Given the description of an element on the screen output the (x, y) to click on. 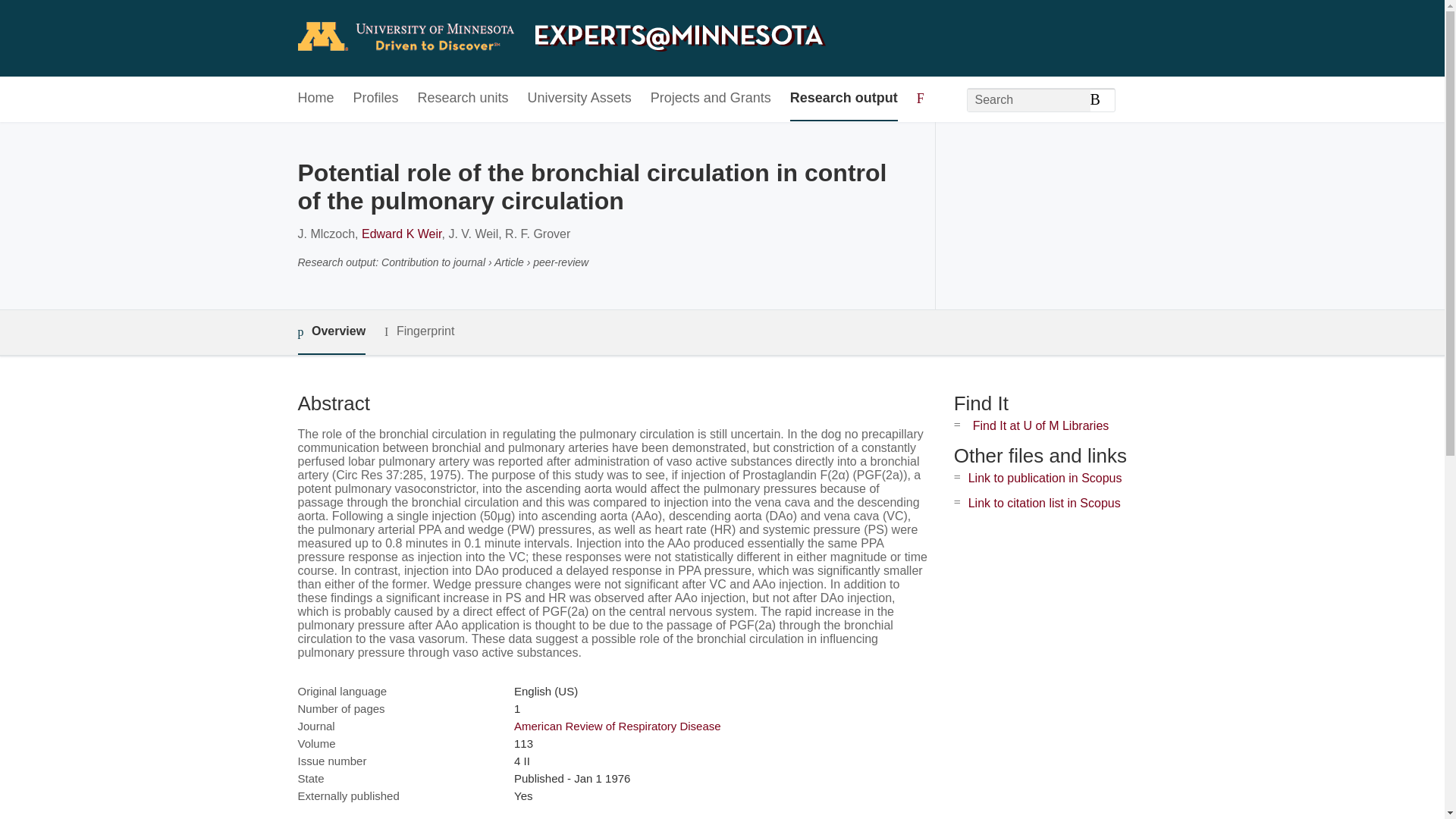
Research units (462, 98)
Projects and Grants (710, 98)
University Assets (579, 98)
Profiles (375, 98)
Find It at U of M Libraries (1040, 425)
Edward K Weir (401, 233)
Link to citation list in Scopus (1044, 502)
Link to publication in Scopus (1045, 477)
Research output (844, 98)
